Given the description of an element on the screen output the (x, y) to click on. 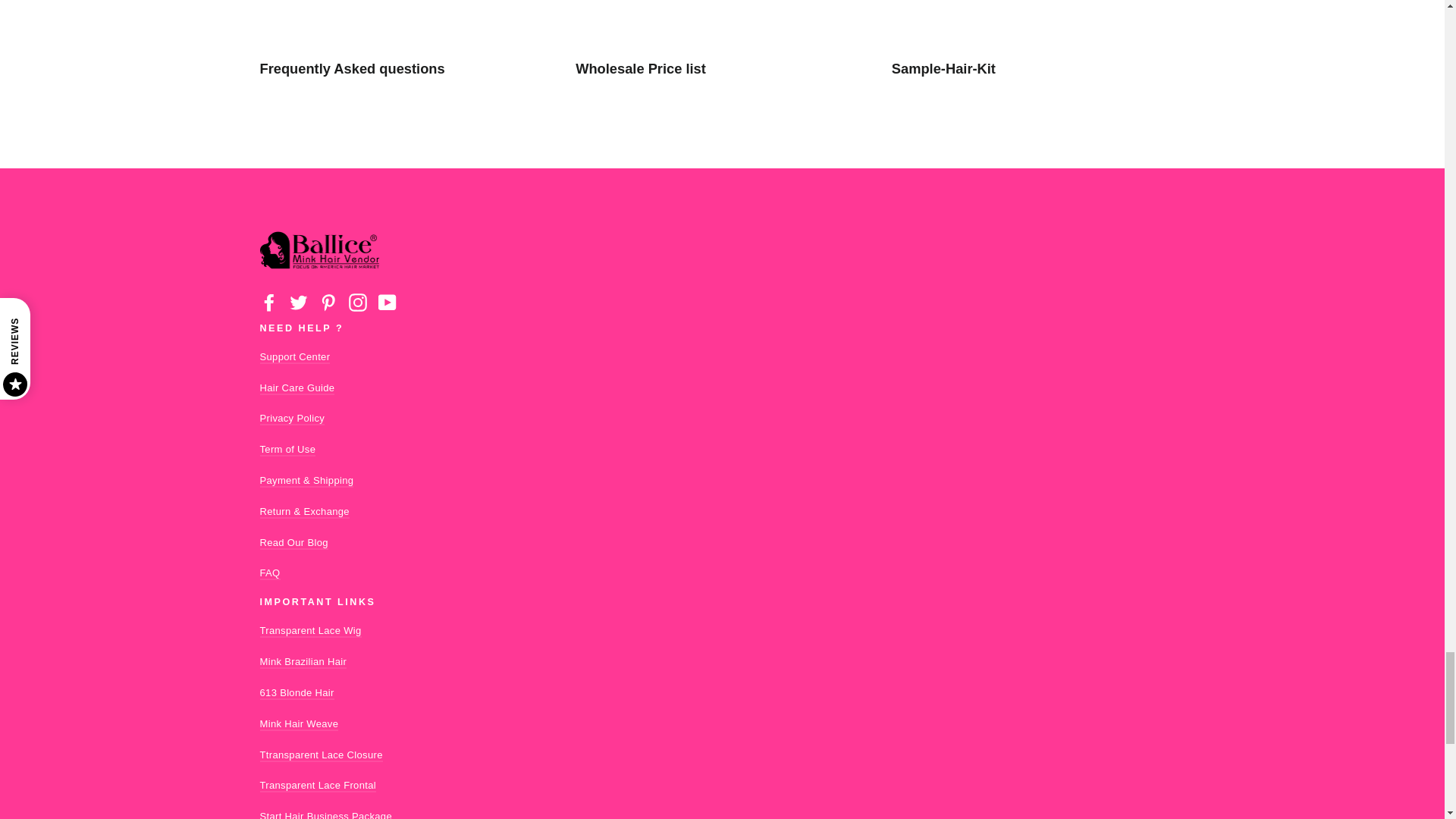
Ballice on Pinterest (327, 301)
Ballice on Twitter (298, 301)
Ballice on Facebook (268, 301)
Ballice on Instagram (357, 301)
Contact Us (294, 357)
Ballice on YouTube (386, 301)
